Given the description of an element on the screen output the (x, y) to click on. 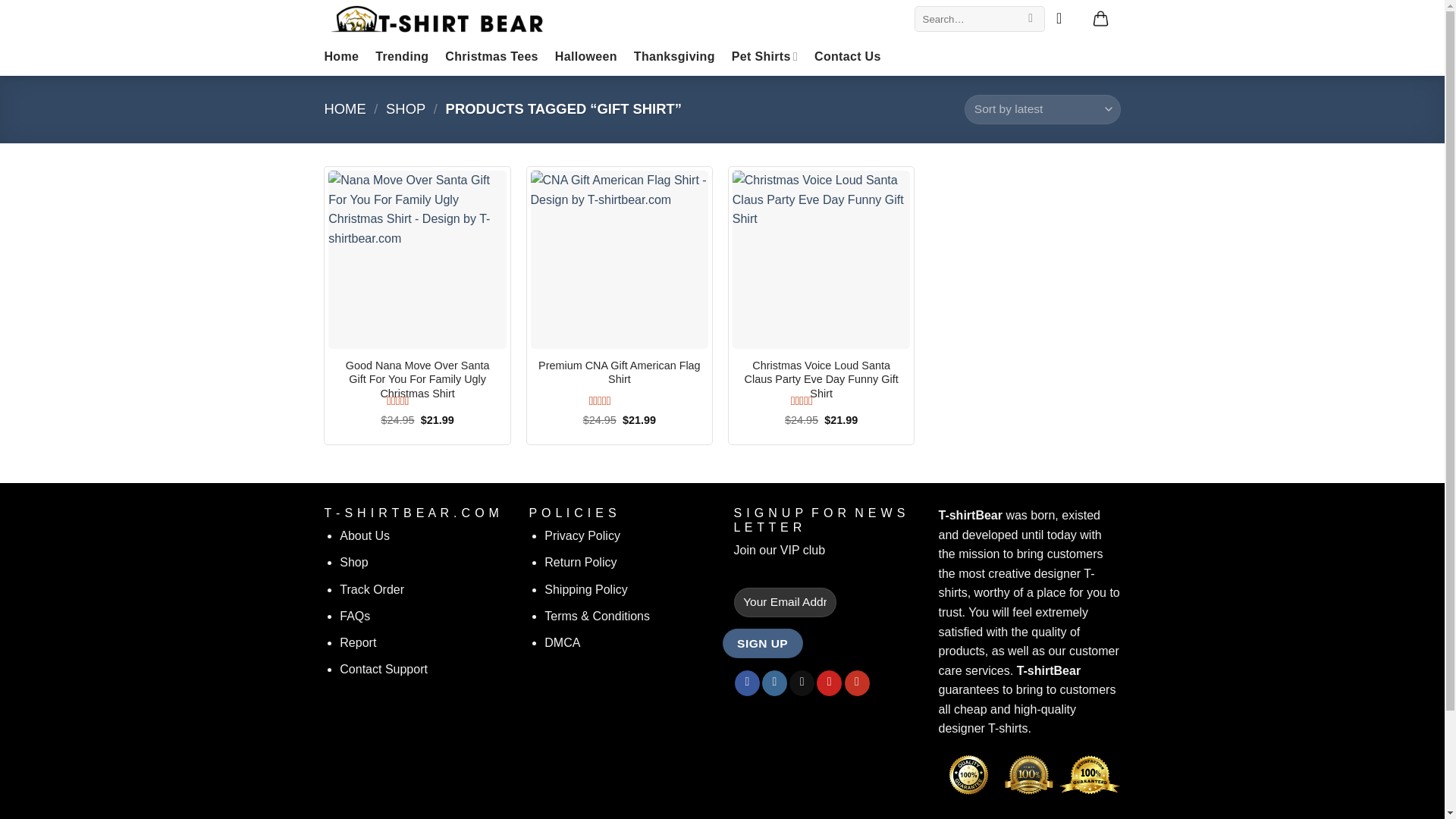
Cart (1100, 18)
Sign Up (762, 643)
Send us an email (801, 683)
Trending (401, 56)
SHOP (405, 108)
Contact Support (383, 668)
Follow on YouTube (856, 683)
FAQs (354, 615)
Track Order (371, 589)
Thanksgiving (673, 56)
Halloween (585, 56)
Premium CNA Gift American Flag Shirt (619, 372)
Follow on Facebook (747, 683)
Follow on Pinterest (828, 683)
